Given the description of an element on the screen output the (x, y) to click on. 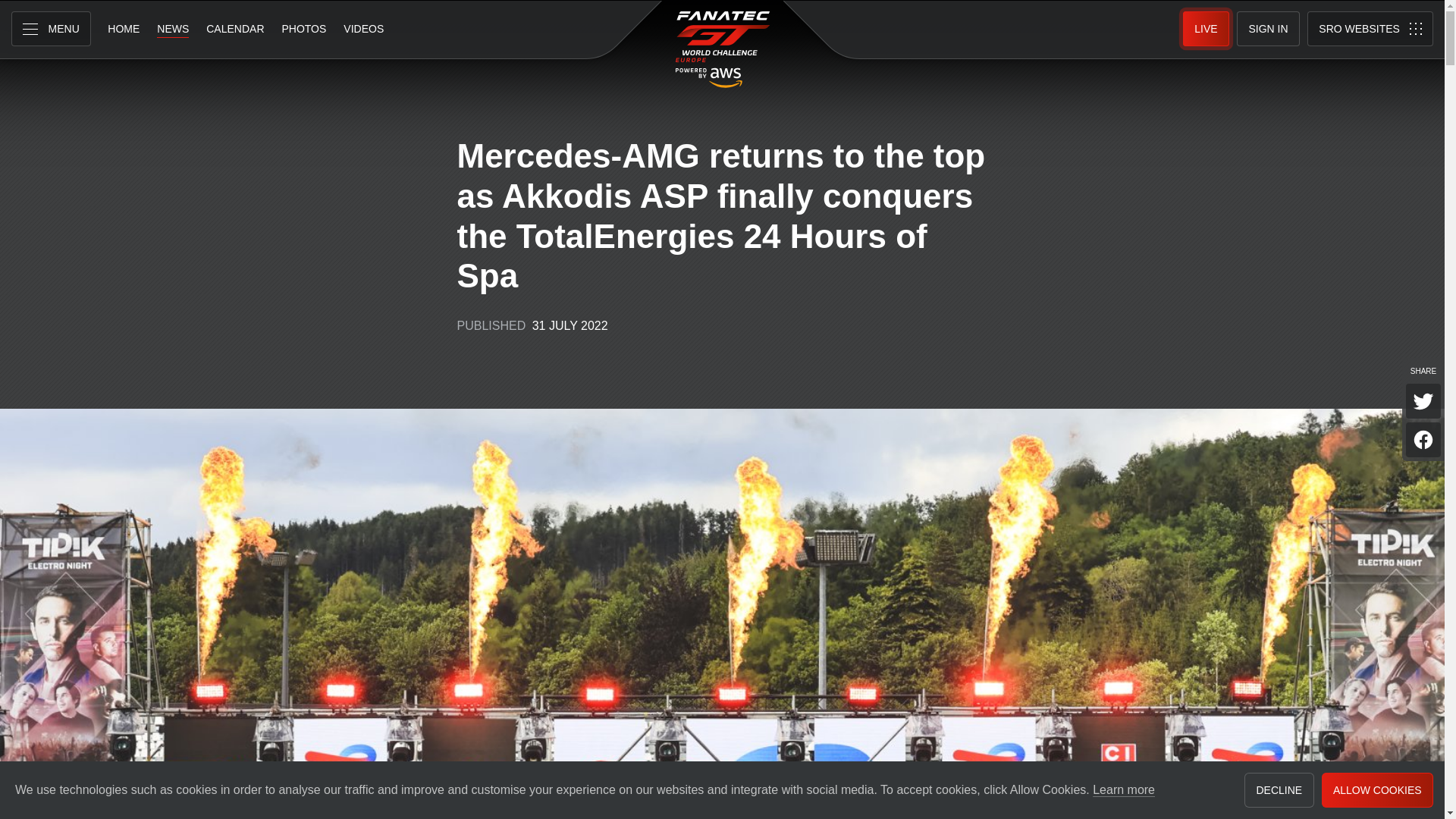
ALLOW COOKIES (1377, 790)
MENU (50, 28)
DECLINE (1278, 790)
Learn more (1123, 790)
